Given the description of an element on the screen output the (x, y) to click on. 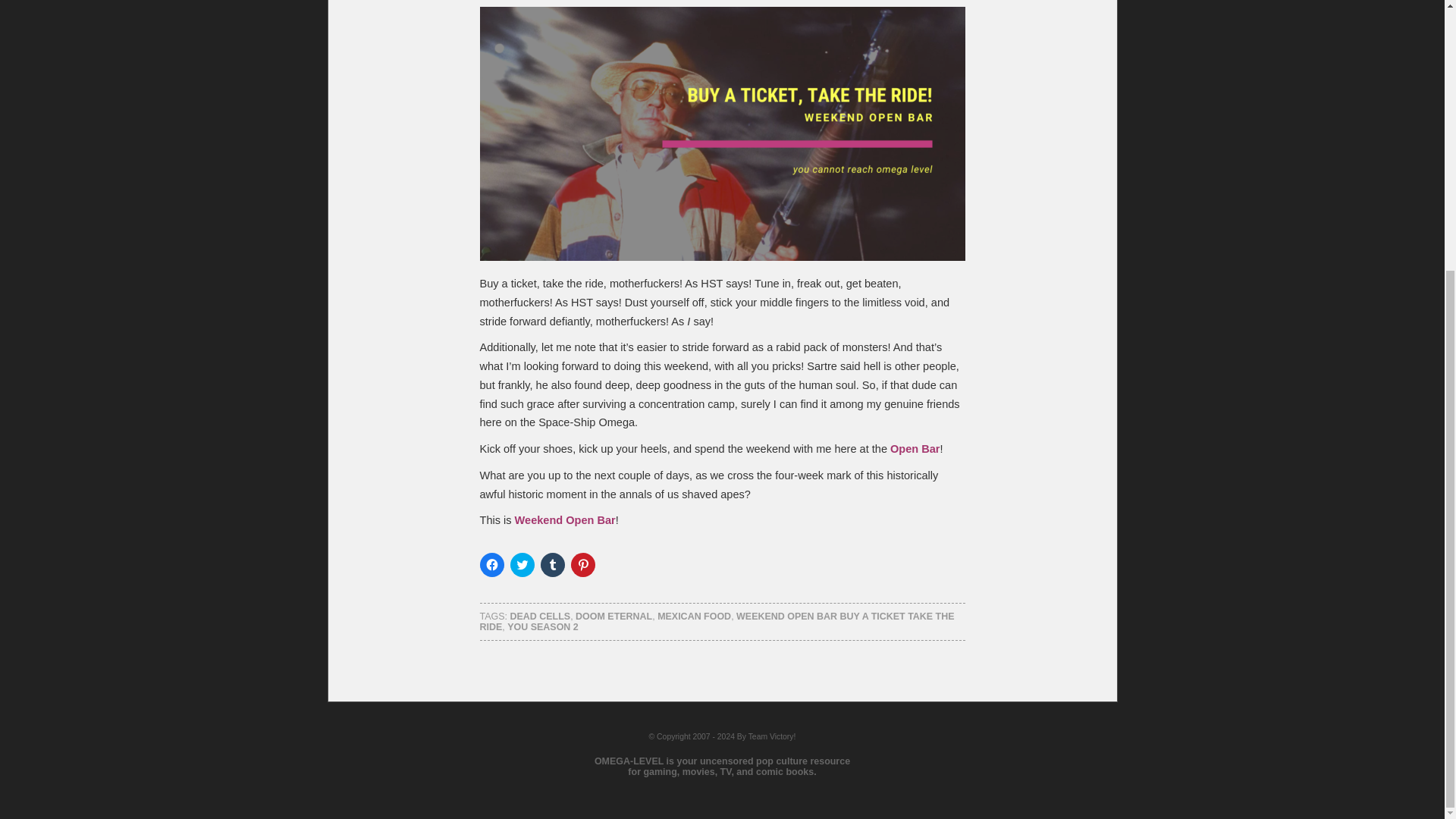
MEXICAN FOOD (694, 615)
Click to share on Facebook (491, 564)
DEAD CELLS (539, 615)
YOU SEASON 2 (542, 626)
Click to share on Pinterest (582, 564)
DOOM ETERNAL (613, 615)
Weekend Open Bar (565, 520)
Click to share on Tumblr (552, 564)
Open Bar (914, 449)
WEEKEND OPEN BAR BUY A TICKET TAKE THE RIDE (716, 621)
Click to share on Twitter (521, 564)
